Given the description of an element on the screen output the (x, y) to click on. 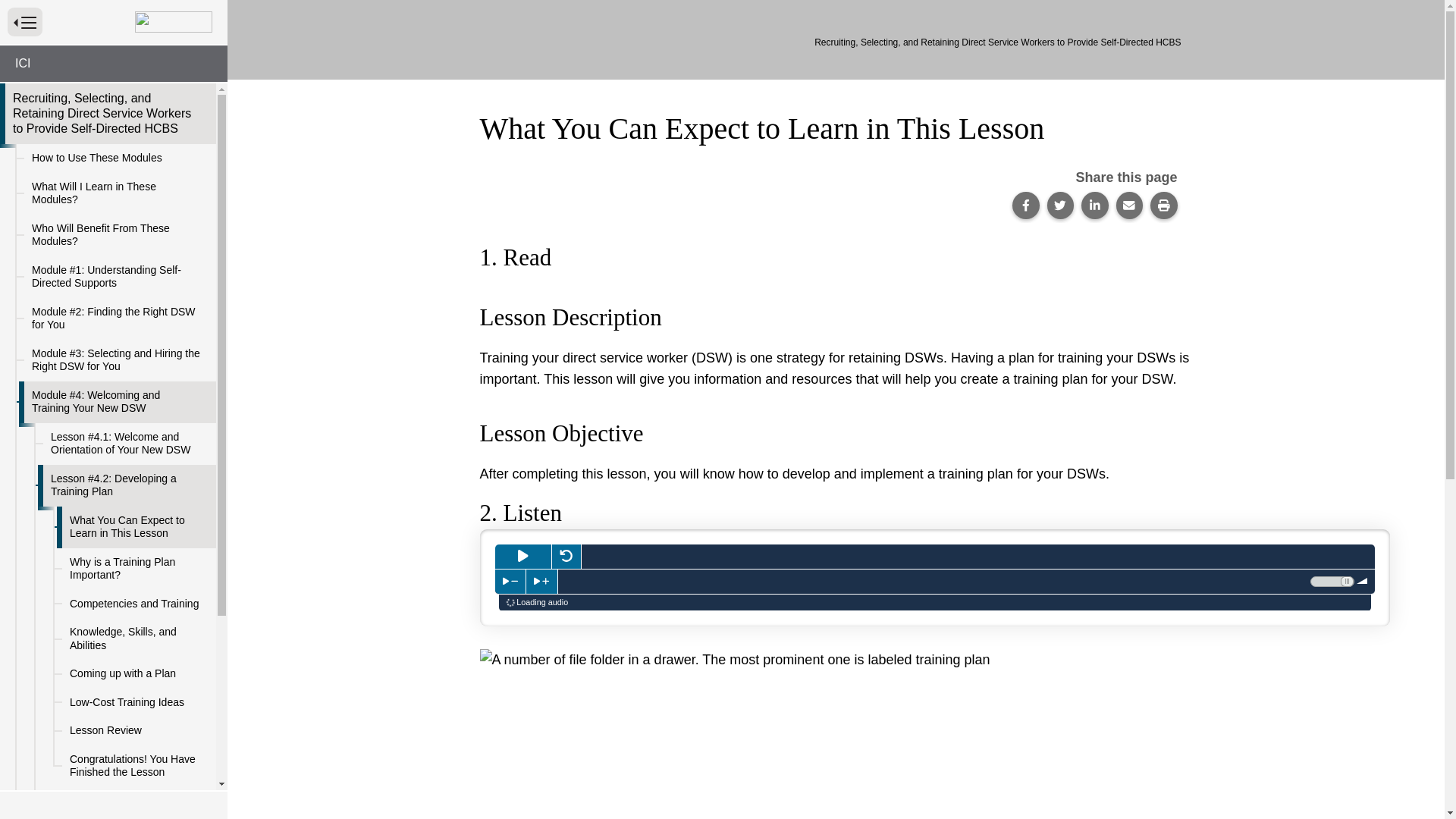
How to Use These Modules (116, 158)
Press to Toggle Website Primary Navigation (24, 21)
Print this page. (1163, 205)
Lesson Review (135, 730)
Knowledge, Skills, and Abilities (135, 639)
What Will I Learn in These Modules? (116, 193)
Congratulations! You Have Finished the Lesson (135, 765)
Share this page via email. (1129, 205)
Share this page on Twitter. (1060, 205)
Press to play audio clip. (523, 556)
